Given the description of an element on the screen output the (x, y) to click on. 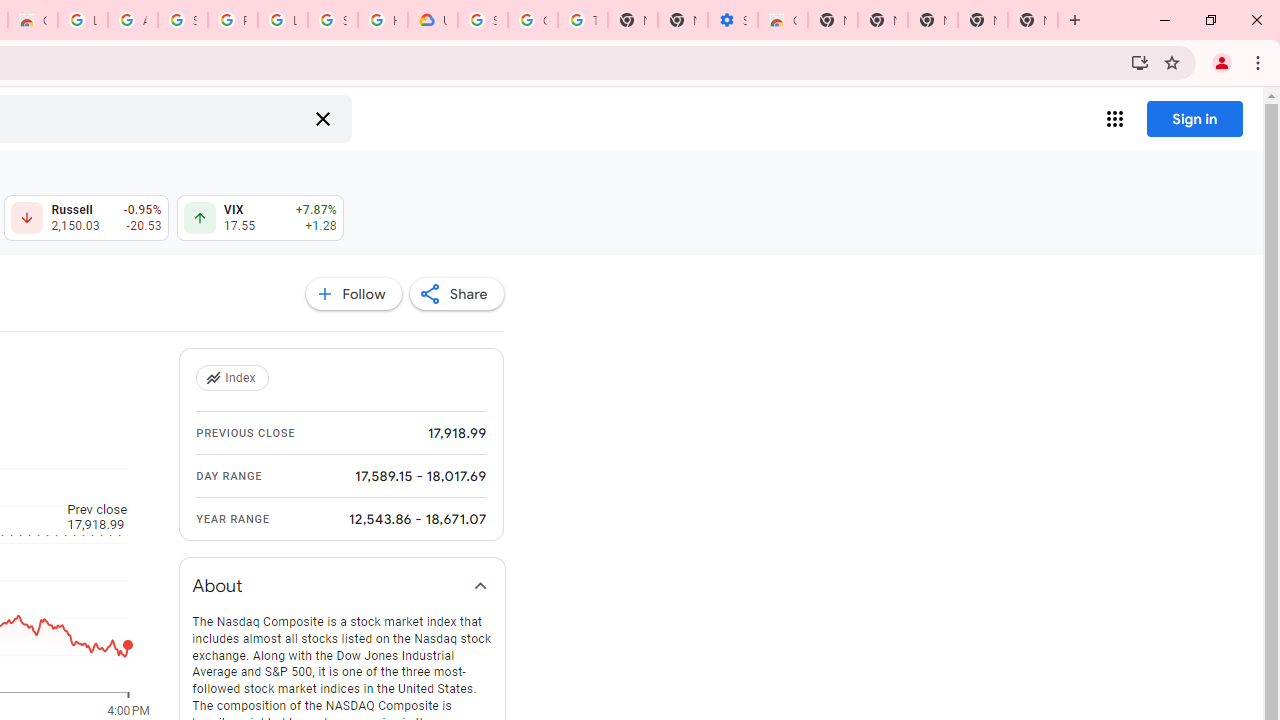
Install Google Finance (1139, 62)
Turn cookies on or off - Computer - Google Account Help (582, 20)
Settings - Accessibility (732, 20)
New Tab (832, 20)
Google apps (1114, 118)
Index (233, 377)
Share (456, 293)
About (342, 586)
VIX 17.55 Up by 7.87% +1.28 (260, 218)
Russell 2,150.03 Down by 0.95% -20.53 (85, 218)
Ad Settings (132, 20)
